Given the description of an element on the screen output the (x, y) to click on. 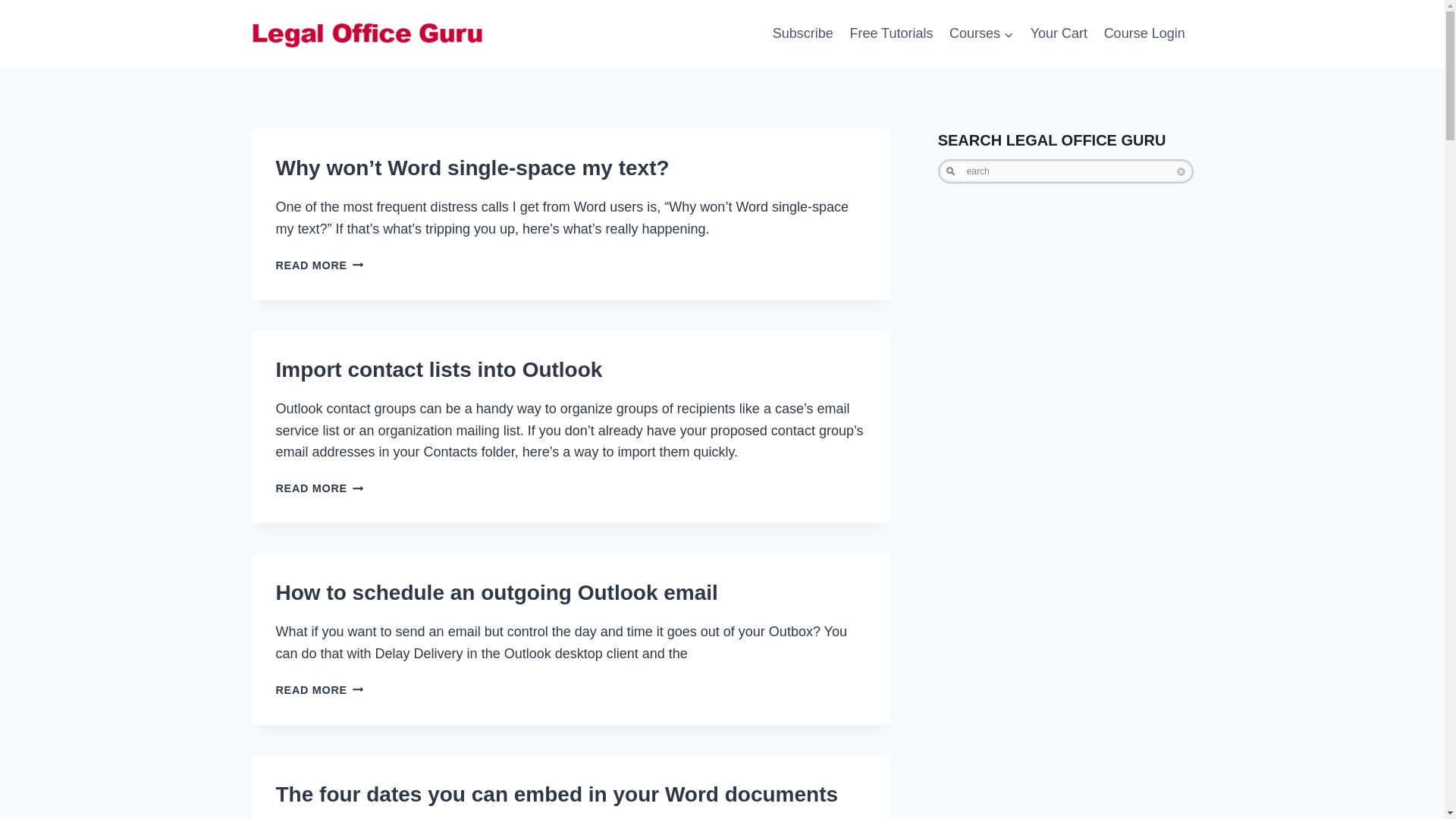
The four dates you can embed in your Word documents (557, 793)
Your Cart (1059, 34)
Import contact lists into Outlook (439, 369)
Subscribe (802, 34)
Free Tutorials (891, 34)
How to schedule an outgoing Outlook email (496, 592)
Courses (981, 34)
Signed up for a course? Log in here! (320, 689)
clear search (1144, 34)
Course Login (320, 488)
